Given the description of an element on the screen output the (x, y) to click on. 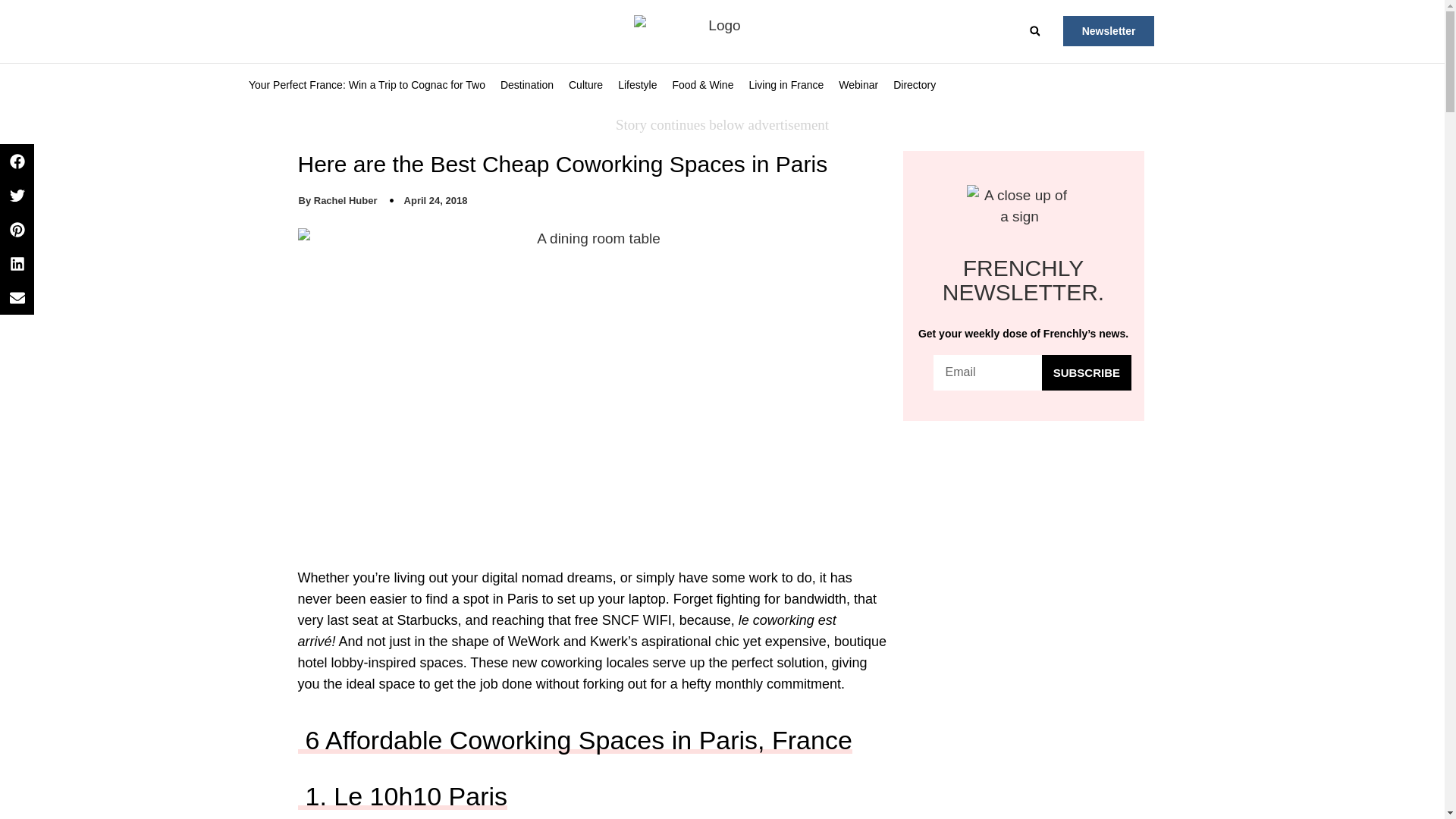
Directory (914, 85)
Newsletter (1108, 30)
Lifestyle (636, 85)
Living in France (786, 85)
Webinar (858, 85)
Culture (585, 85)
Your Perfect France: Win a Trip to Cognac for Two (367, 85)
Destination (526, 85)
